Given the description of an element on the screen output the (x, y) to click on. 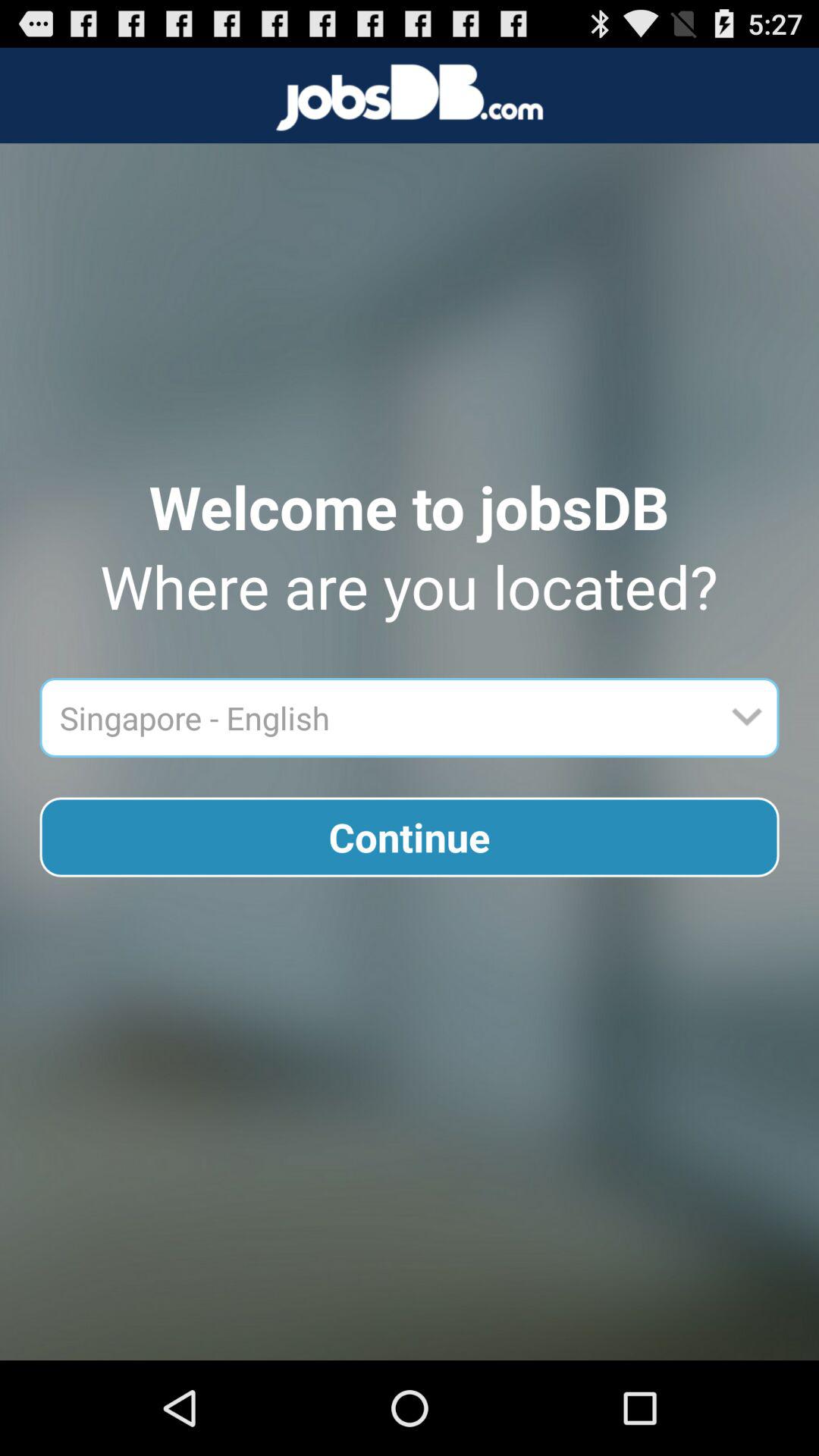
turn on the continue button (409, 837)
